Given the description of an element on the screen output the (x, y) to click on. 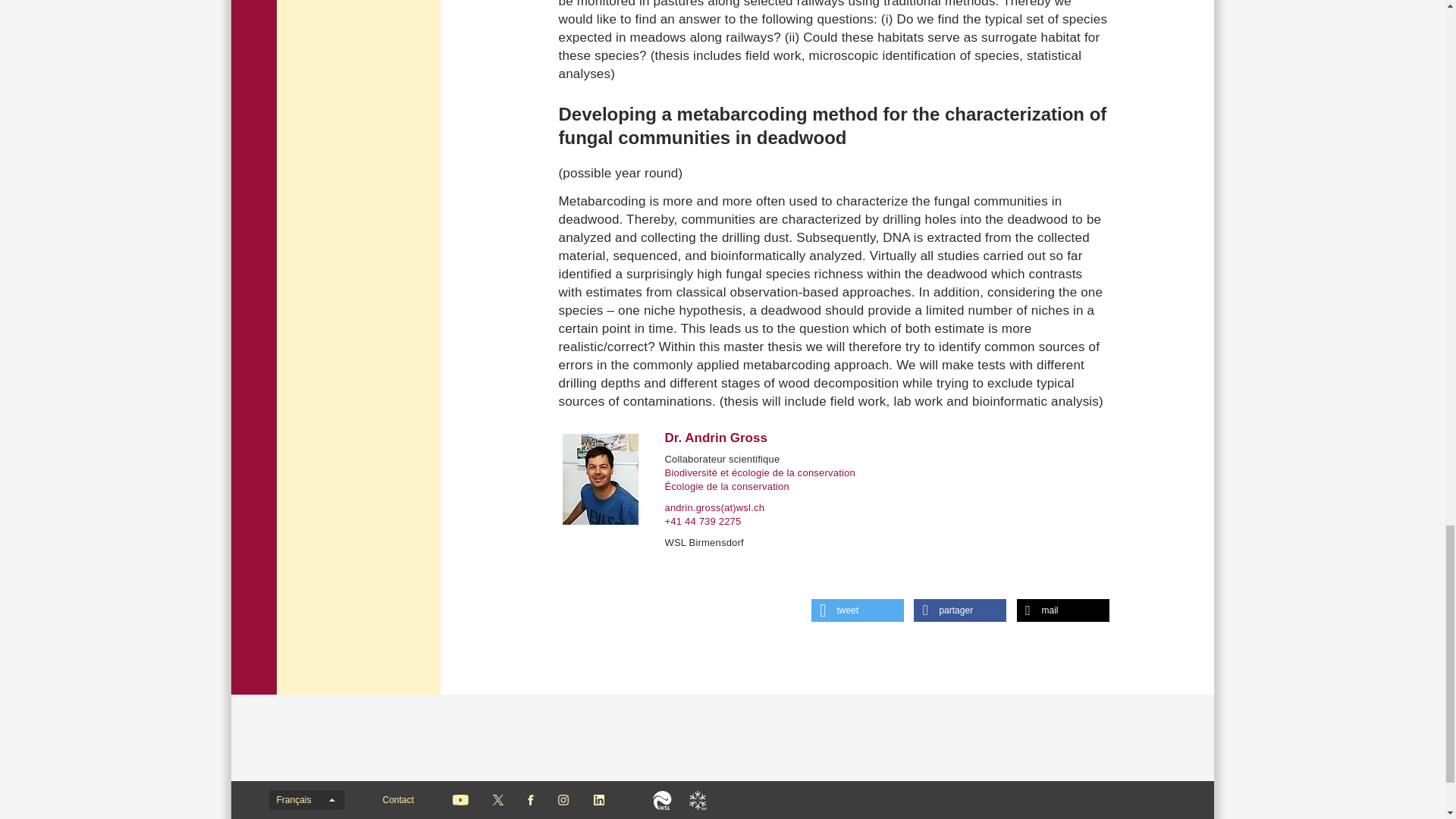
Envoyer par courriel (1062, 609)
Partager sur Facebook (960, 609)
Partager sur Twitter (857, 609)
